Given the description of an element on the screen output the (x, y) to click on. 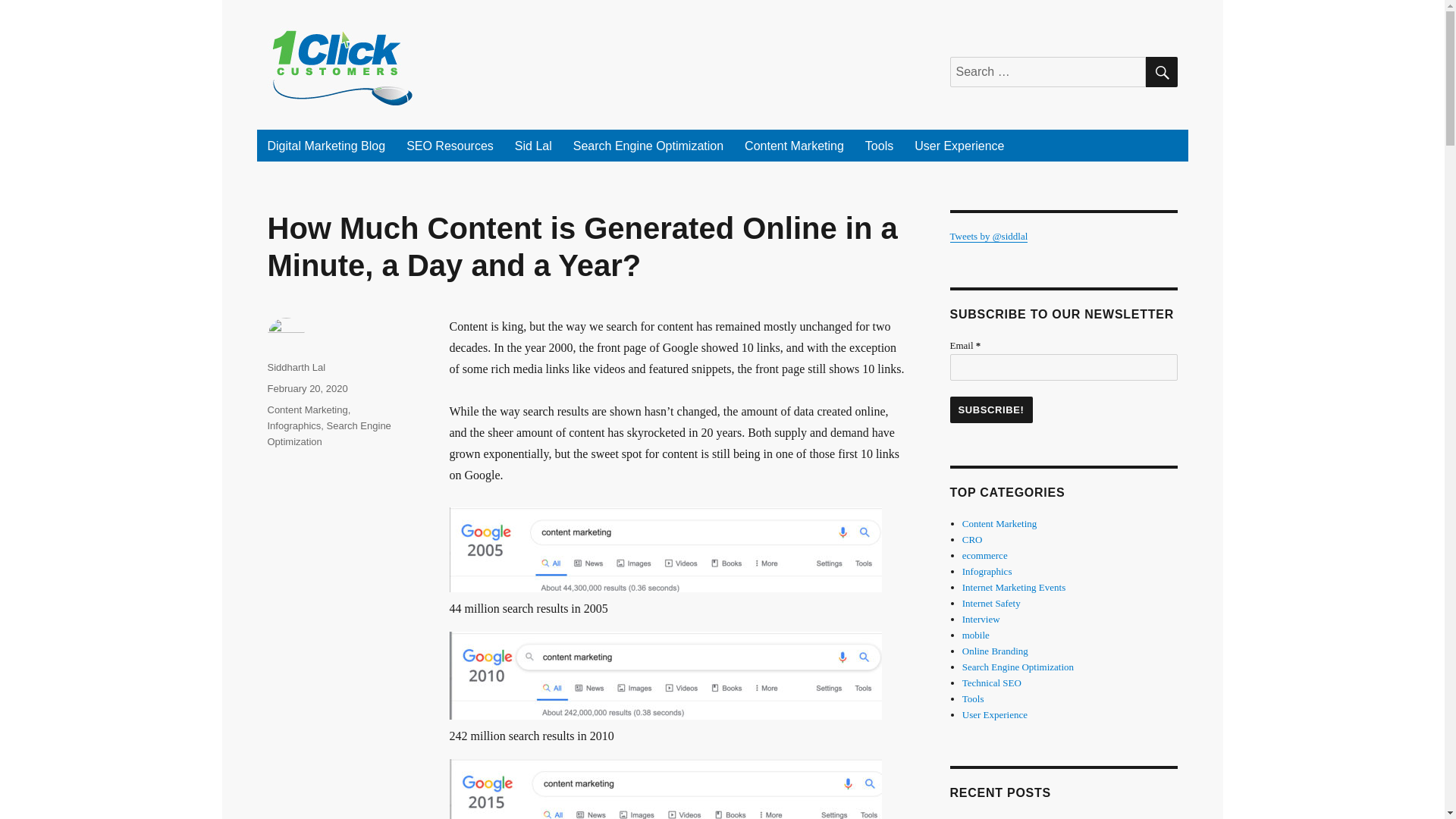
Digital Marketing Blog (326, 145)
Email (1062, 366)
SEARCH (1160, 71)
Search for: (1046, 71)
Sid Lal (532, 145)
February 20, 2020 (306, 388)
Content Marketing (793, 145)
Siddharth Lal (295, 367)
Tools (879, 145)
SEO Resources (449, 145)
